Given the description of an element on the screen output the (x, y) to click on. 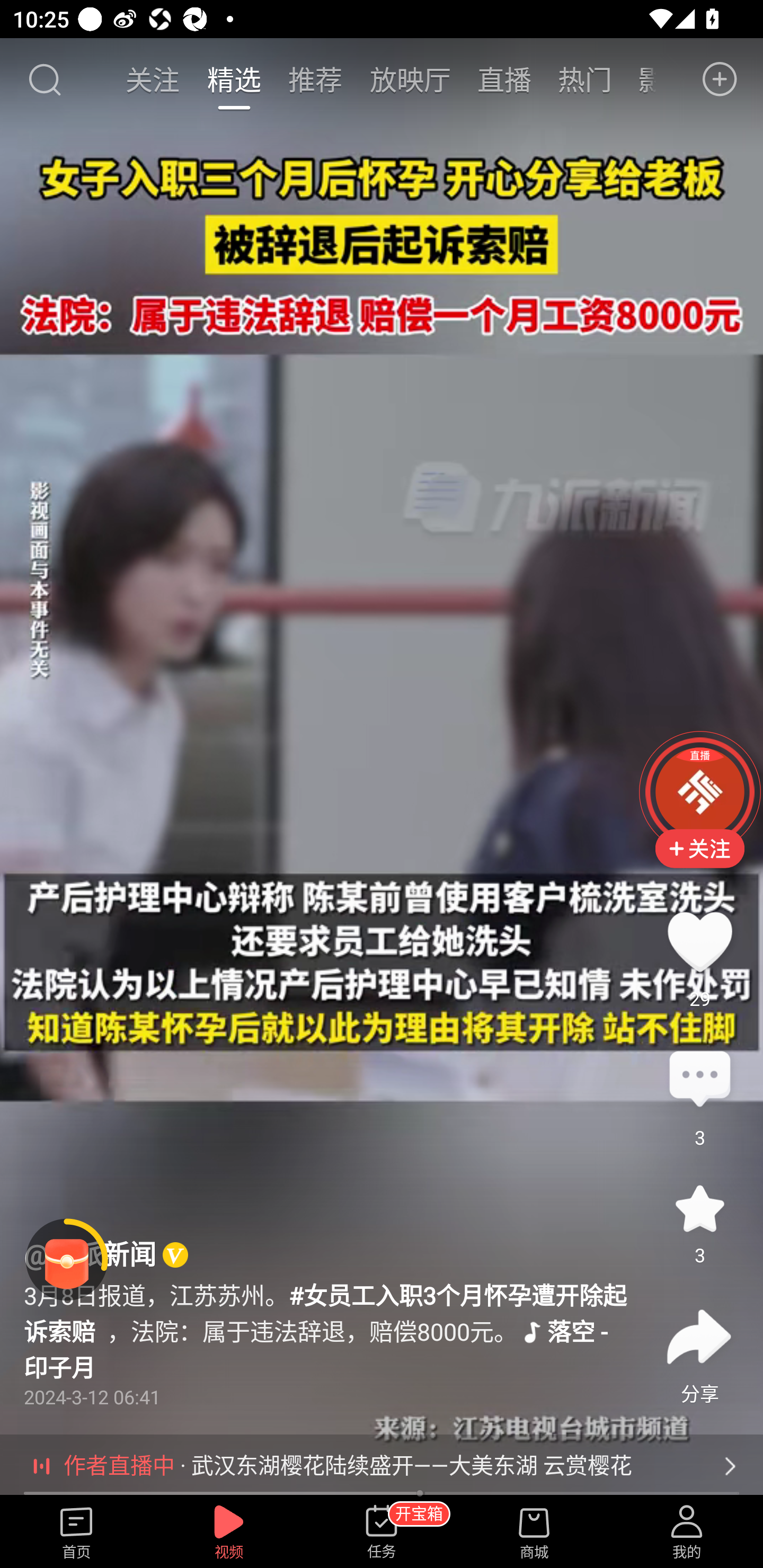
关注 (153, 79)
精选 (233, 79)
推荐 (315, 79)
放映厅 (409, 79)
直播 (504, 79)
热门 (584, 79)
搜索 (44, 79)
发布 (720, 79)
头像，直播中 (699, 791)
加关注 (699, 862)
点赞29 29 (699, 941)
评论3 评论 3 (699, 1080)
收藏 3 (699, 1207)
阅读赚金币 (66, 1259)
分享 (699, 1336)
作者直播中  · 武汉东湖樱花陆续盛开——大美东湖 云赏樱花 (381, 1465)
首页 (76, 1532)
视频 (228, 1532)
任务 开宝箱 (381, 1532)
商城 (533, 1532)
我的 (686, 1532)
